Given the description of an element on the screen output the (x, y) to click on. 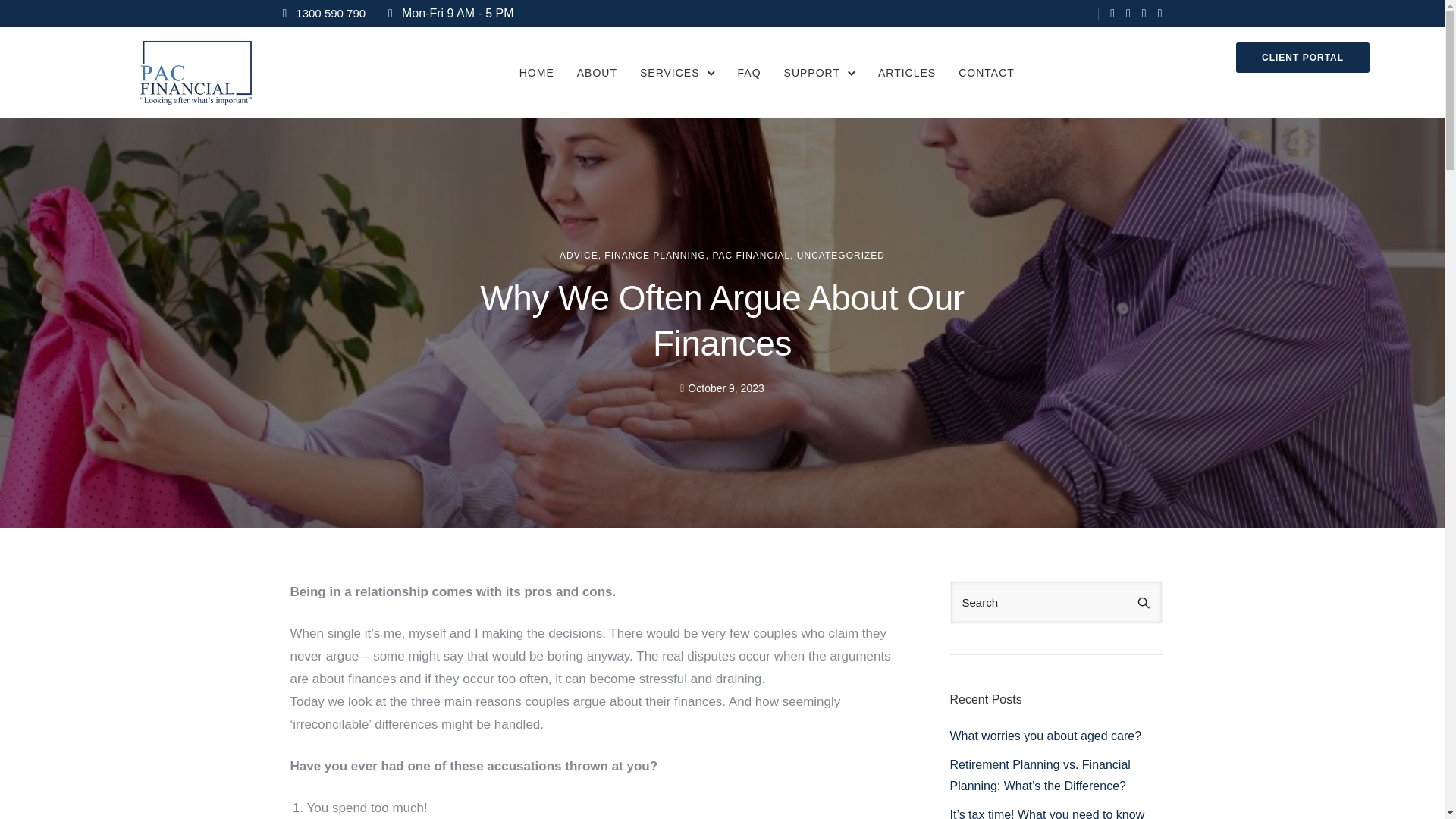
1300 590 790 (330, 12)
Contact (986, 72)
SERVICES (669, 72)
Articles (906, 72)
CONTACT (986, 72)
FAQ (749, 72)
HOME (537, 72)
ABOUT (596, 72)
Services (669, 72)
Home (537, 72)
About (596, 72)
FAQ (749, 72)
SUPPORT (811, 72)
ARTICLES (906, 72)
Support (811, 72)
